Given the description of an element on the screen output the (x, y) to click on. 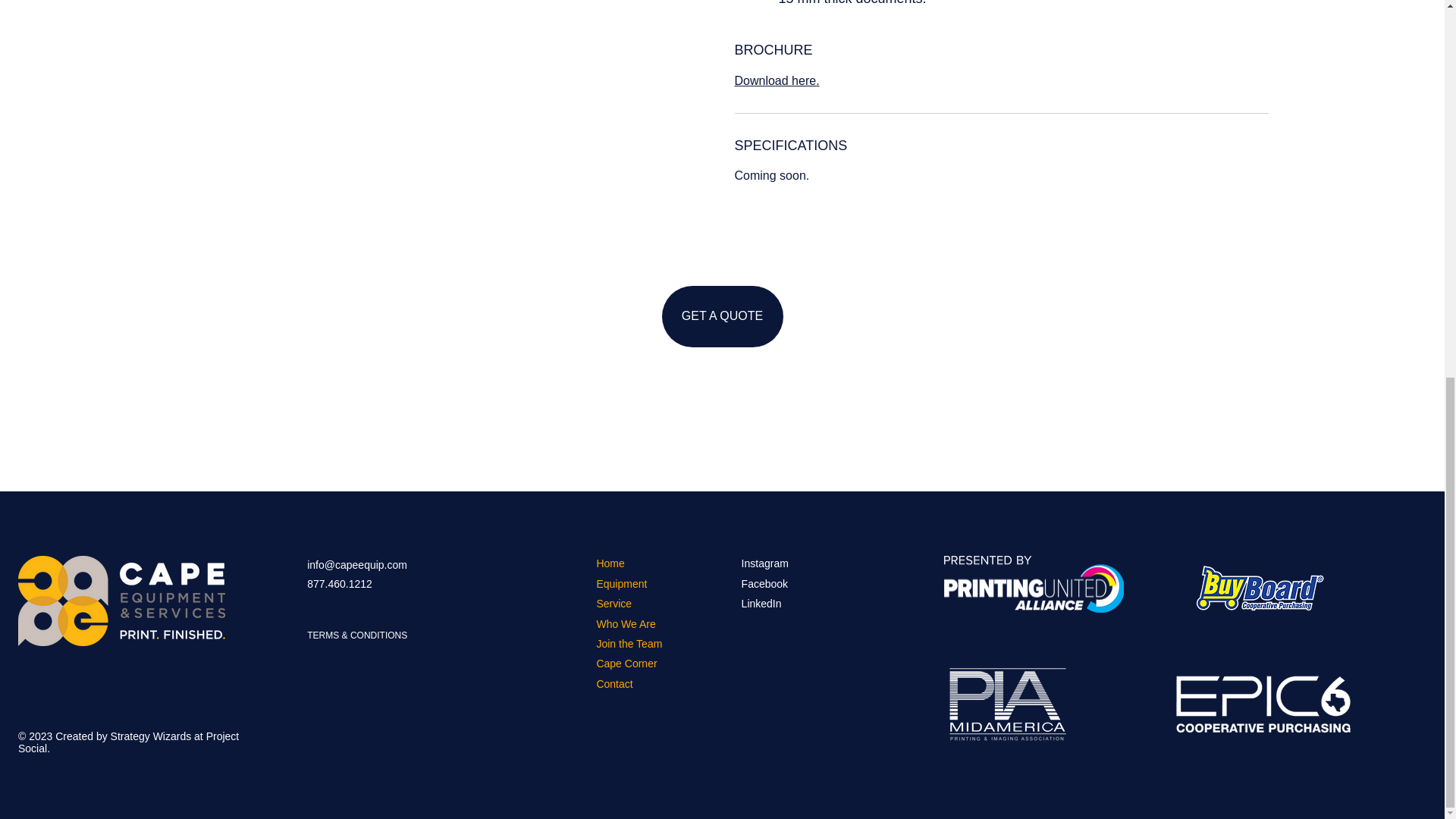
Download here. (775, 80)
Cape Corner (625, 664)
Service (613, 604)
Facebook (764, 583)
Join the Team (628, 644)
Home (609, 564)
Instagram (765, 564)
Contact (613, 683)
GET A QUOTE (722, 315)
LinkedIn (761, 604)
